Given the description of an element on the screen output the (x, y) to click on. 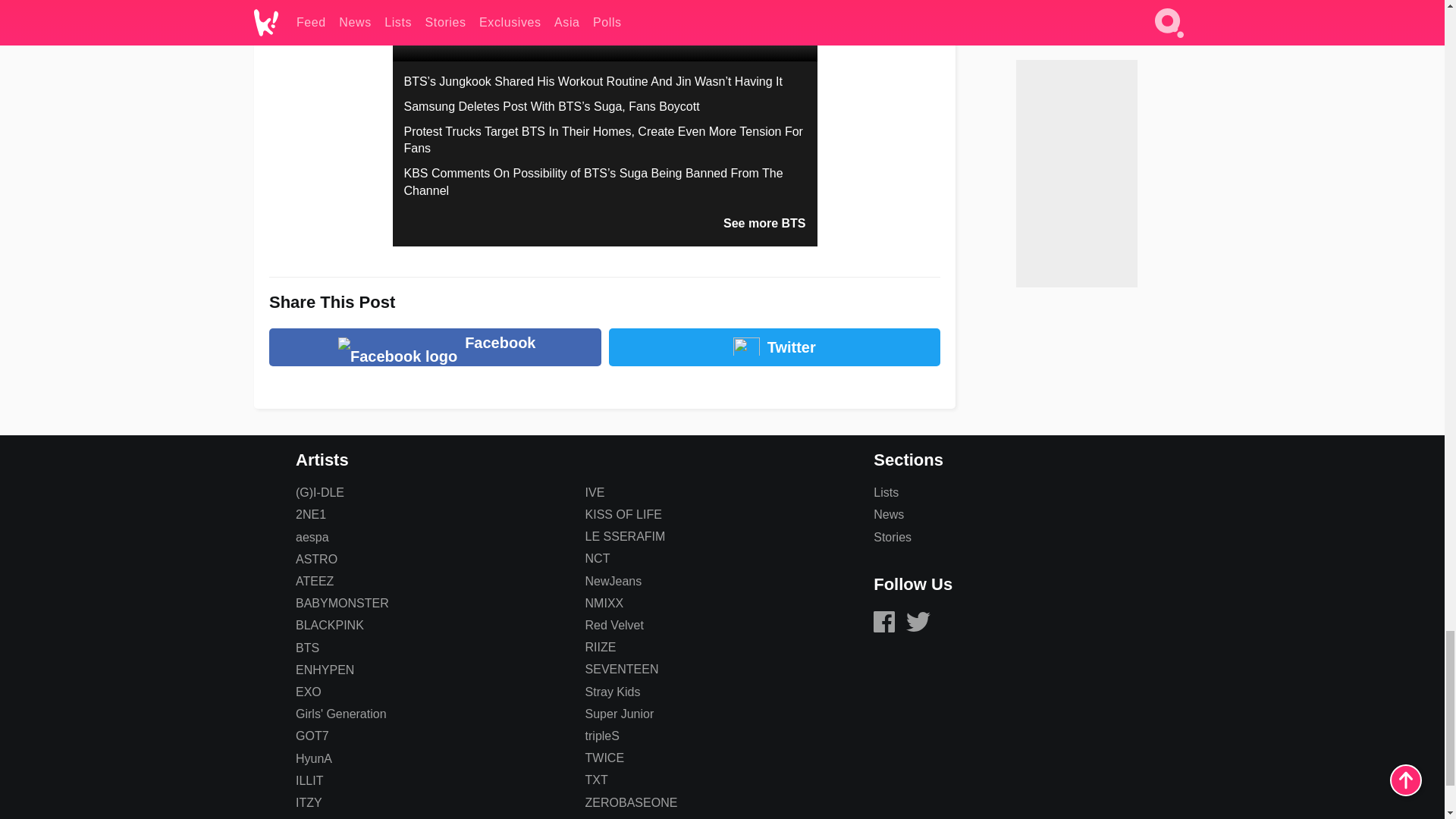
IVE (595, 492)
ASTRO (316, 558)
LE SSERAFIM (625, 535)
BLACKPINK (329, 625)
NCT (597, 558)
BABYMONSTER (341, 603)
ENHYPEN (324, 669)
2NE1 (310, 513)
HyunA (313, 758)
Girls' Generation (341, 713)
